Given the description of an element on the screen output the (x, y) to click on. 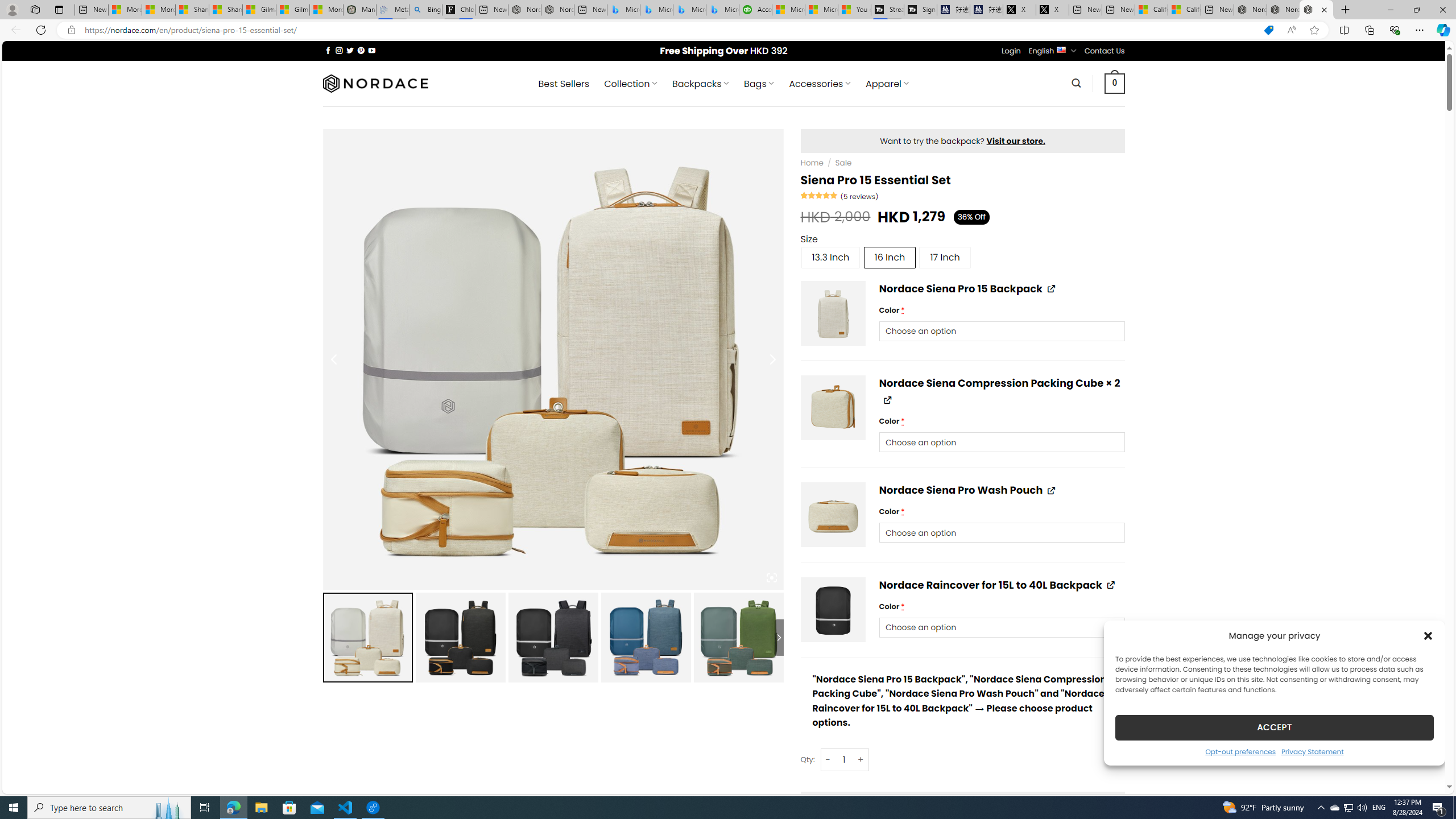
Manatee Mortality Statistics | FWC (359, 9)
Follow on Instagram (338, 49)
Color * (1002, 626)
English (1061, 49)
- (827, 759)
(5 reviews) (859, 196)
Microsoft Bing Travel - Shangri-La Hotel Bangkok (722, 9)
6G8A1459 (833, 514)
ND1118-5-1 (833, 312)
